Given the description of an element on the screen output the (x, y) to click on. 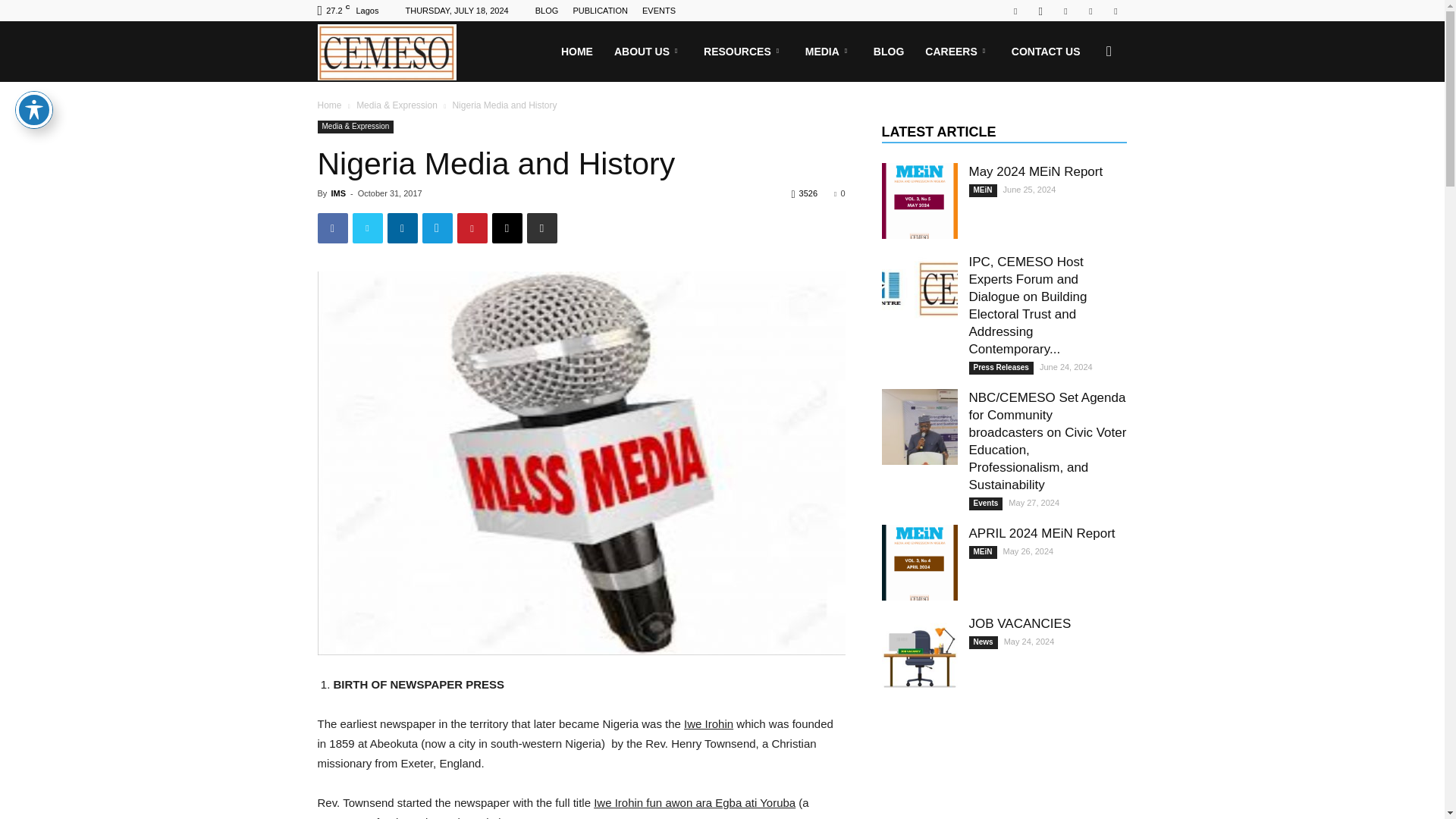
ABOUT US (648, 51)
EVENTS (658, 10)
BLOG (547, 10)
Youtube (1114, 11)
PUBLICATION (599, 10)
Instagram (1040, 11)
Search (1085, 124)
Linkedin (1065, 11)
Centre for Media and Society (386, 51)
Facebook (1015, 11)
Twitter (1090, 11)
